Given the description of an element on the screen output the (x, y) to click on. 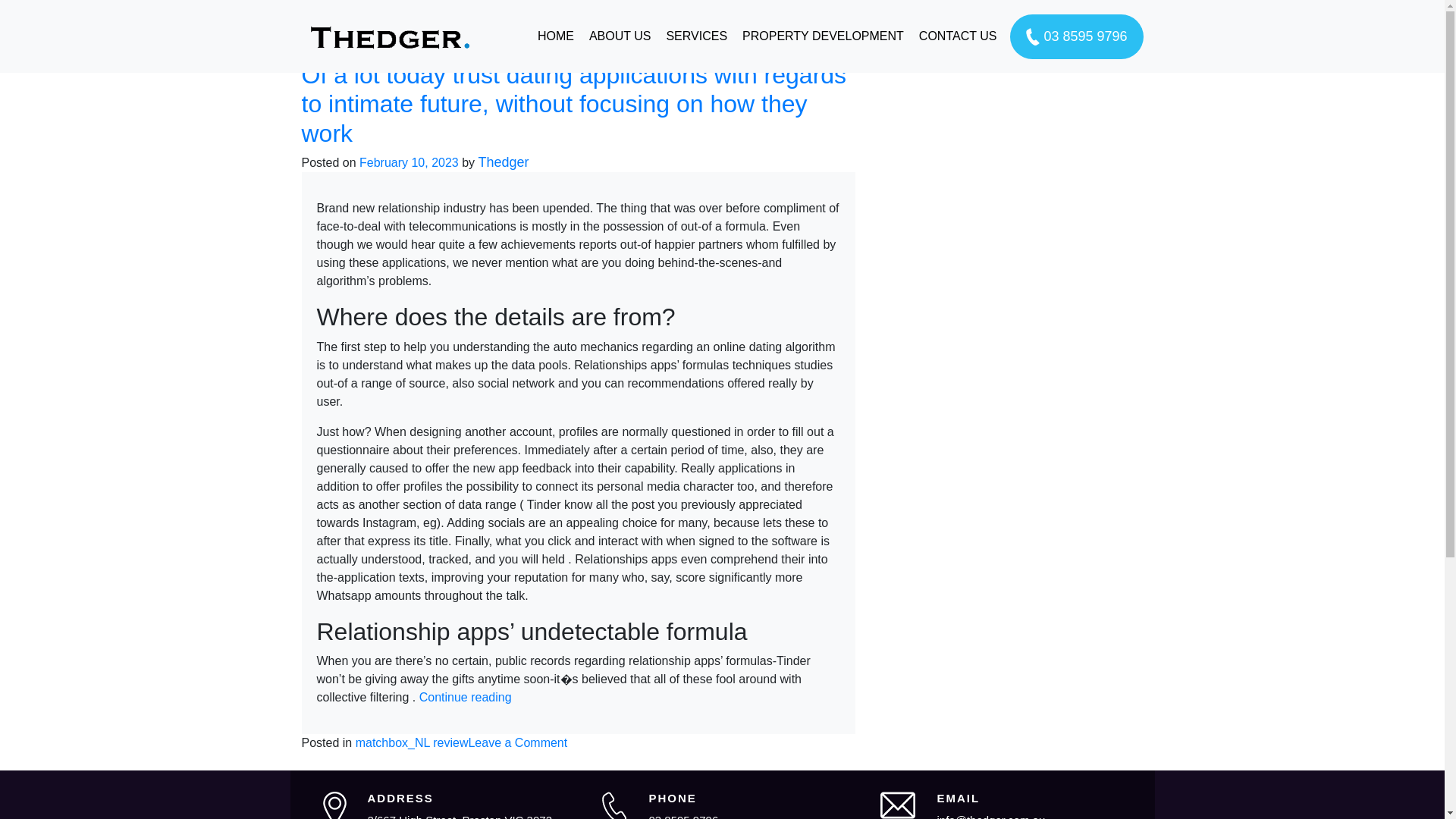
PROPERTY DEVELOPMENT (823, 36)
03 8595 9796 (682, 816)
CONTACT US (957, 36)
03 8595 9796 (1076, 35)
Thedger (504, 161)
SERVICES (696, 36)
HOME (554, 36)
ABOUT US (619, 36)
February 10, 2023 (408, 162)
